Given the description of an element on the screen output the (x, y) to click on. 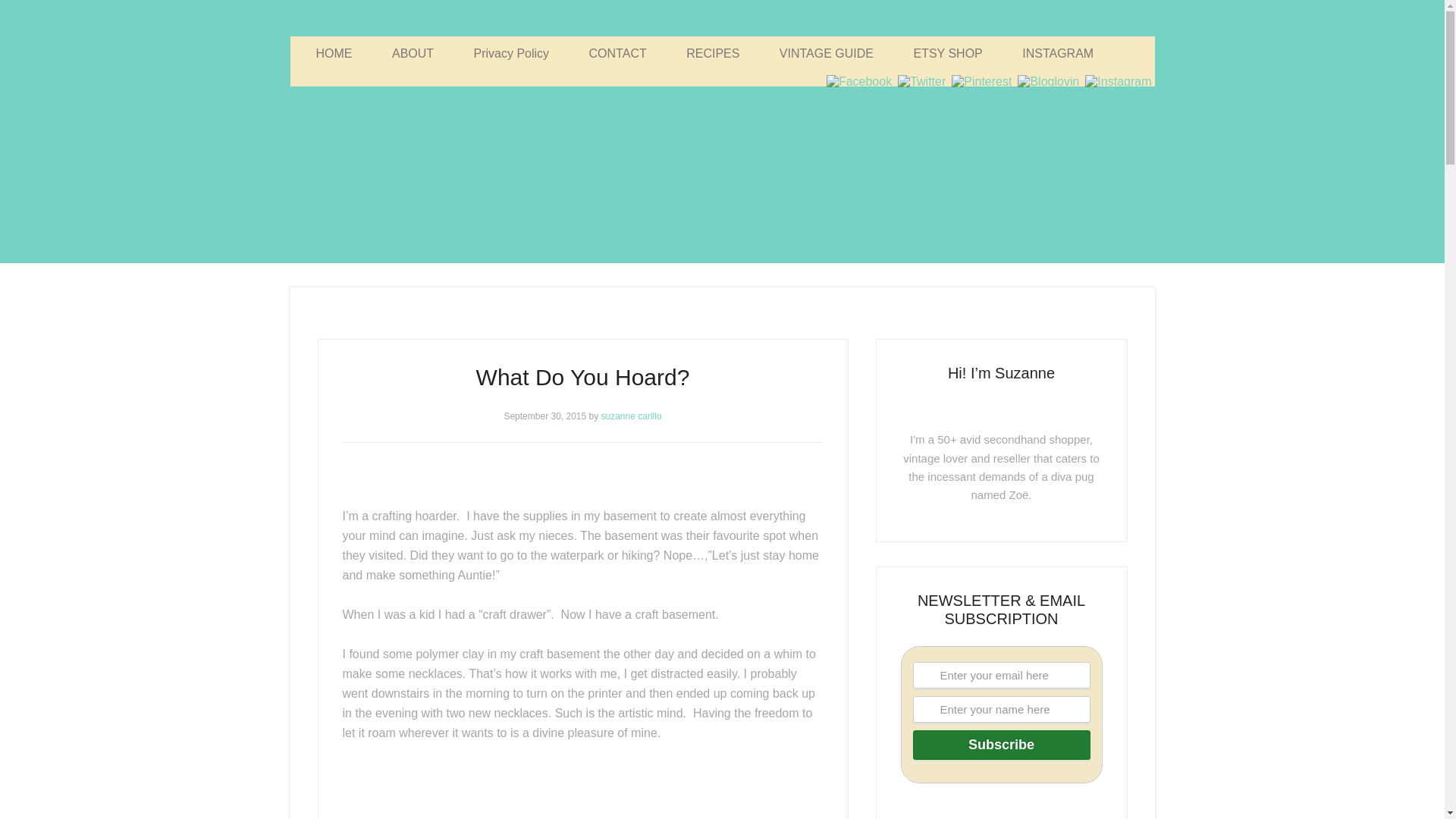
RECIPES (712, 53)
Twitter (922, 81)
Twitter (921, 81)
Pinterest (981, 81)
Subscribe (1001, 745)
Privacy Policy (511, 53)
Facebook (859, 81)
ABOUT (412, 53)
Bloglovin (1047, 81)
Enter your name here (1001, 709)
Instagram (1117, 81)
INSTAGRAM (1057, 53)
Suzanne Carillo (721, 158)
Pinterest (981, 81)
Instagram (1117, 81)
